Given the description of an element on the screen output the (x, y) to click on. 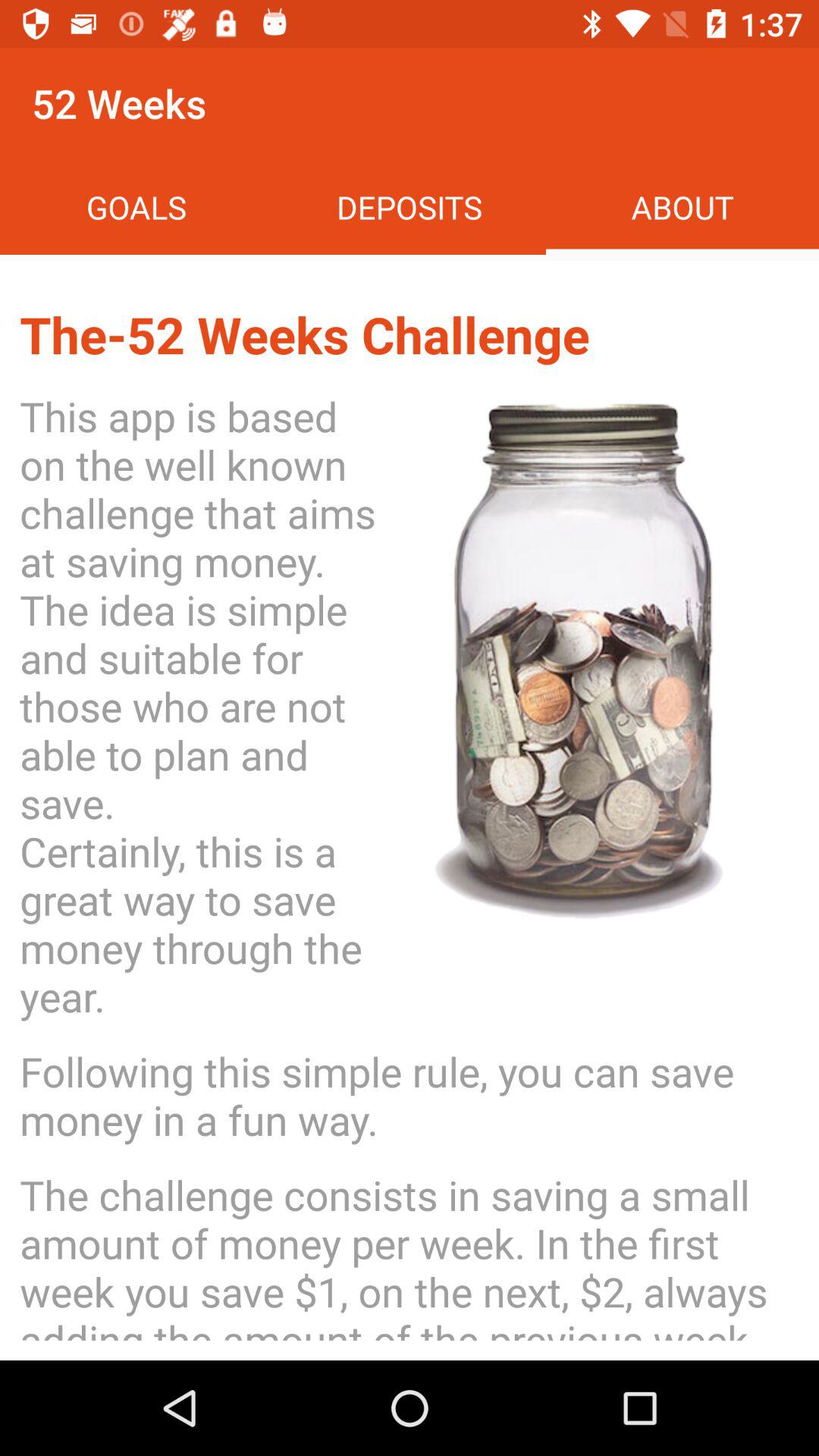
choose the icon next to deposits (136, 206)
